Given the description of an element on the screen output the (x, y) to click on. 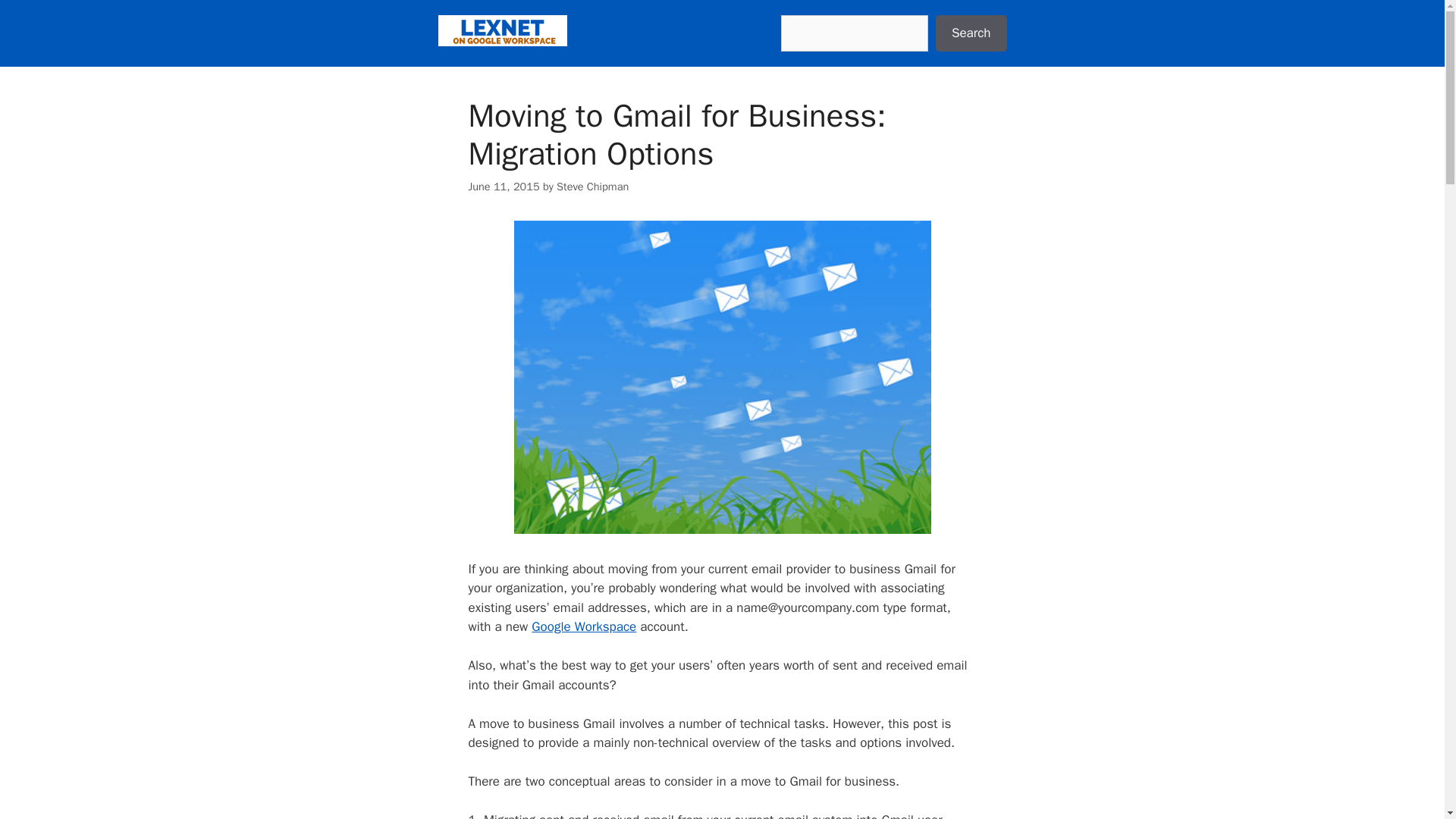
Search (971, 33)
Steve Chipman (592, 185)
Google Workspace (583, 626)
View all posts by Steve Chipman (592, 185)
